Given the description of an element on the screen output the (x, y) to click on. 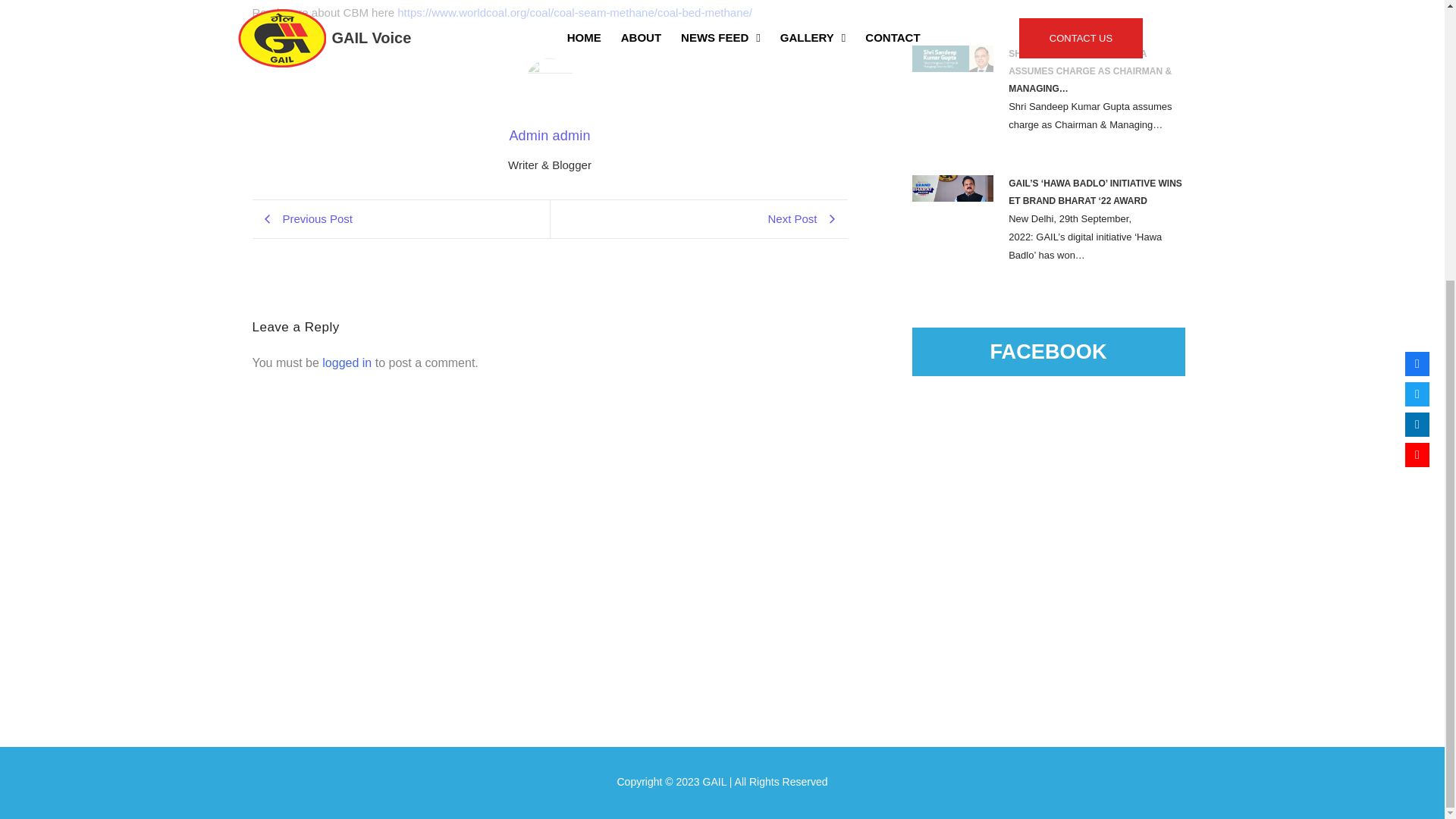
LinkedIn (1417, 9)
Youtube (1417, 36)
